Given the description of an element on the screen output the (x, y) to click on. 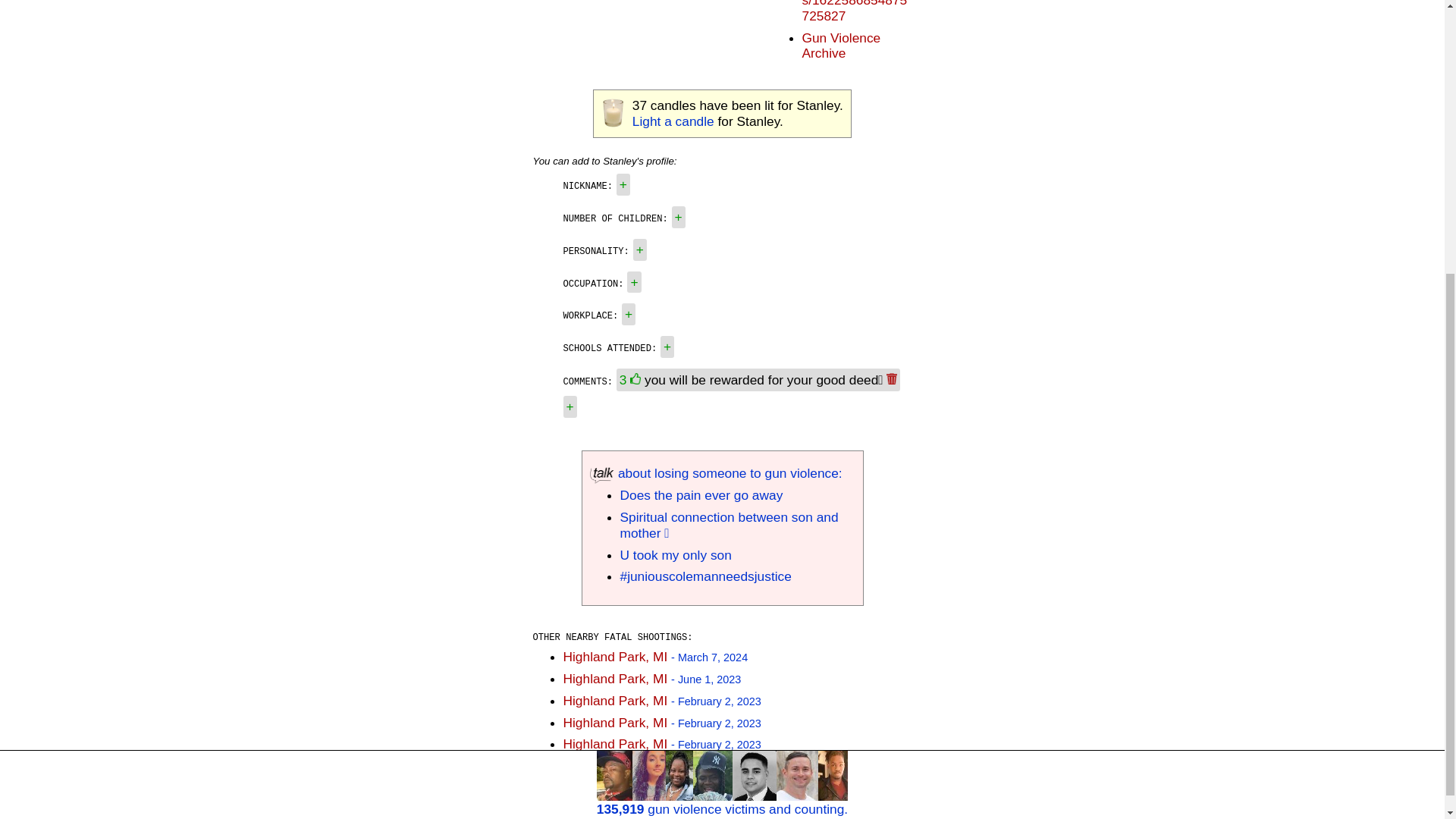
Light a candle (672, 120)
3 (632, 379)
Highland Park, MI - February 2, 2023 (661, 743)
Highland Park, MI - March 7, 2024 (655, 656)
Highland Park, MI - February 2, 2023 (661, 700)
Highland Park, MI - February 2, 2023 (661, 722)
about losing someone to gun violence: (716, 473)
Highland Park, MI - June 1, 2023 (651, 678)
Gun Violence Archive (841, 45)
U took my only son (676, 554)
Does the pain ever go away (701, 494)
